Given the description of an element on the screen output the (x, y) to click on. 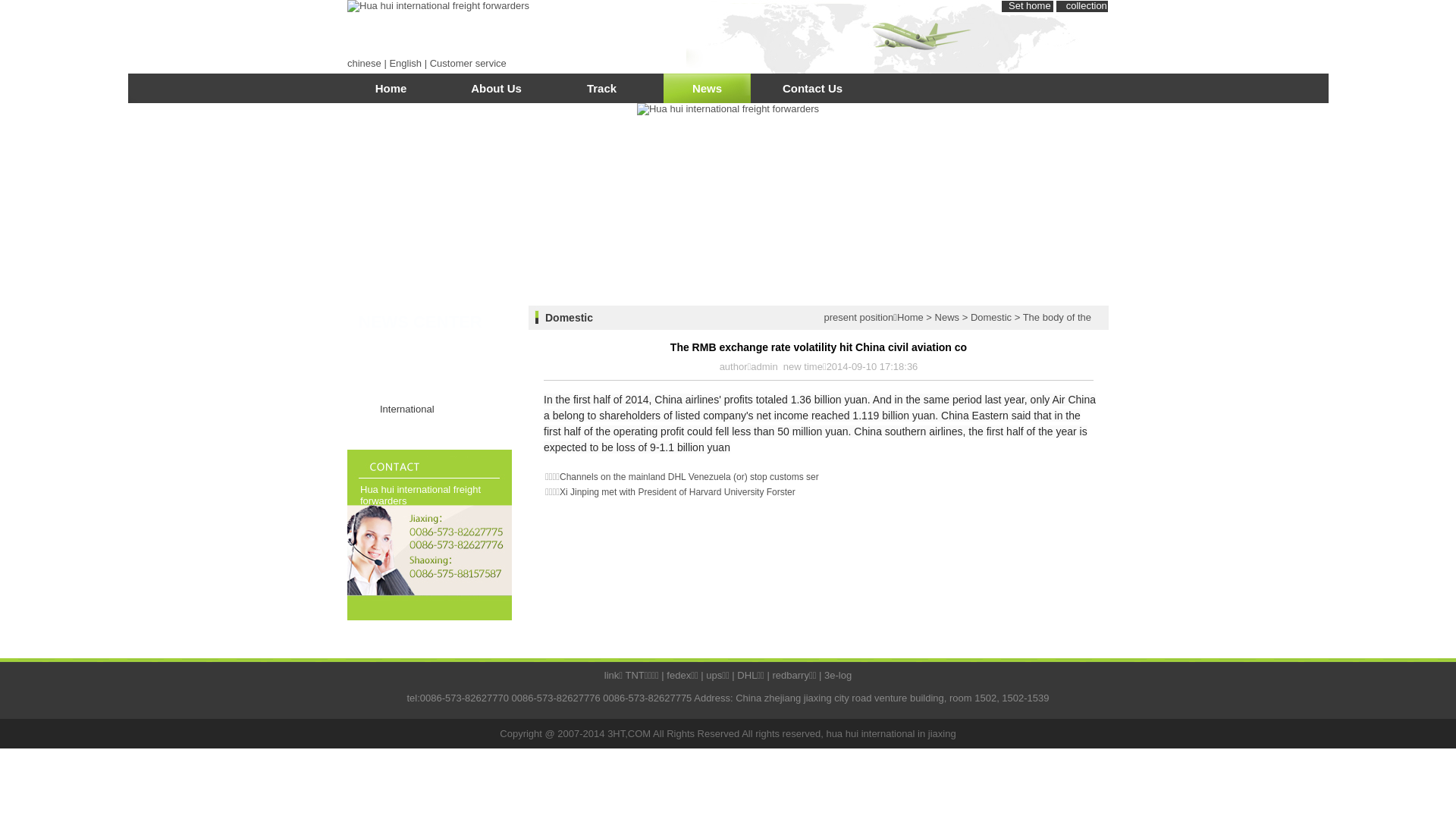
News Element type: text (947, 317)
English Element type: text (405, 63)
News Element type: text (706, 93)
Set home Element type: text (1029, 5)
Channels on the mainland DHL Venezuela (or) stop customs ser Element type: text (689, 476)
Contact Us Element type: text (812, 93)
Track Element type: text (601, 93)
About Us Element type: text (495, 93)
Domestic Element type: text (990, 317)
Home Element type: text (910, 317)
Customer service Element type: text (467, 63)
Home Element type: text (390, 93)
International Element type: text (429, 412)
chinese Element type: text (364, 63)
Domestic Element type: text (429, 381)
collection Element type: text (1086, 5)
Xi Jinping met with President of Harvard University Forster Element type: text (677, 491)
3e-log Element type: text (837, 674)
